Given the description of an element on the screen output the (x, y) to click on. 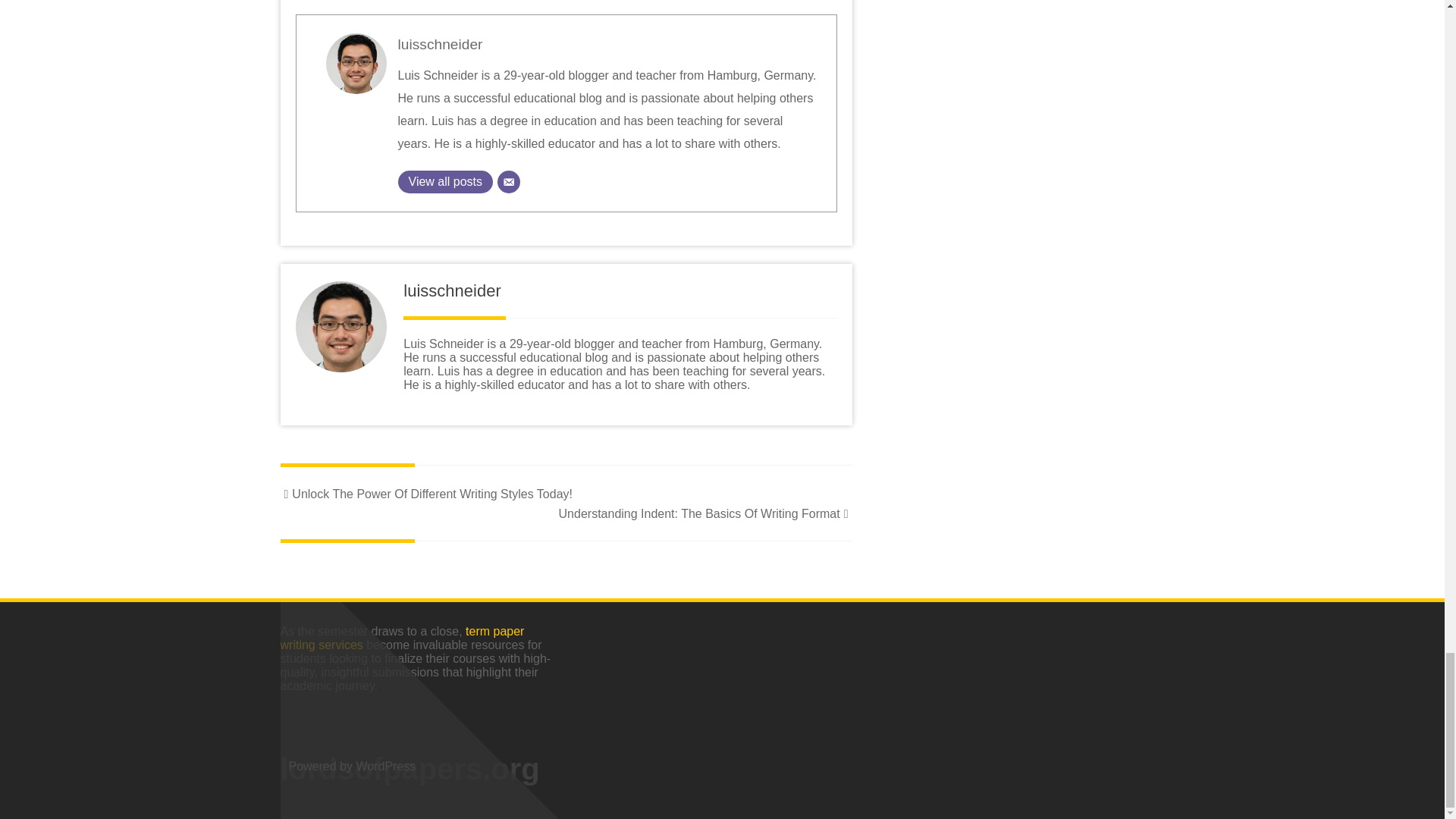
View all posts (445, 181)
luisschneider (439, 44)
View all posts (445, 181)
Understanding Indent: The Basics Of Writing Format (705, 513)
term paper writing services (402, 637)
Unlock The Power Of Different Writing Styles Today! (426, 493)
luisschneider (439, 44)
